Given the description of an element on the screen output the (x, y) to click on. 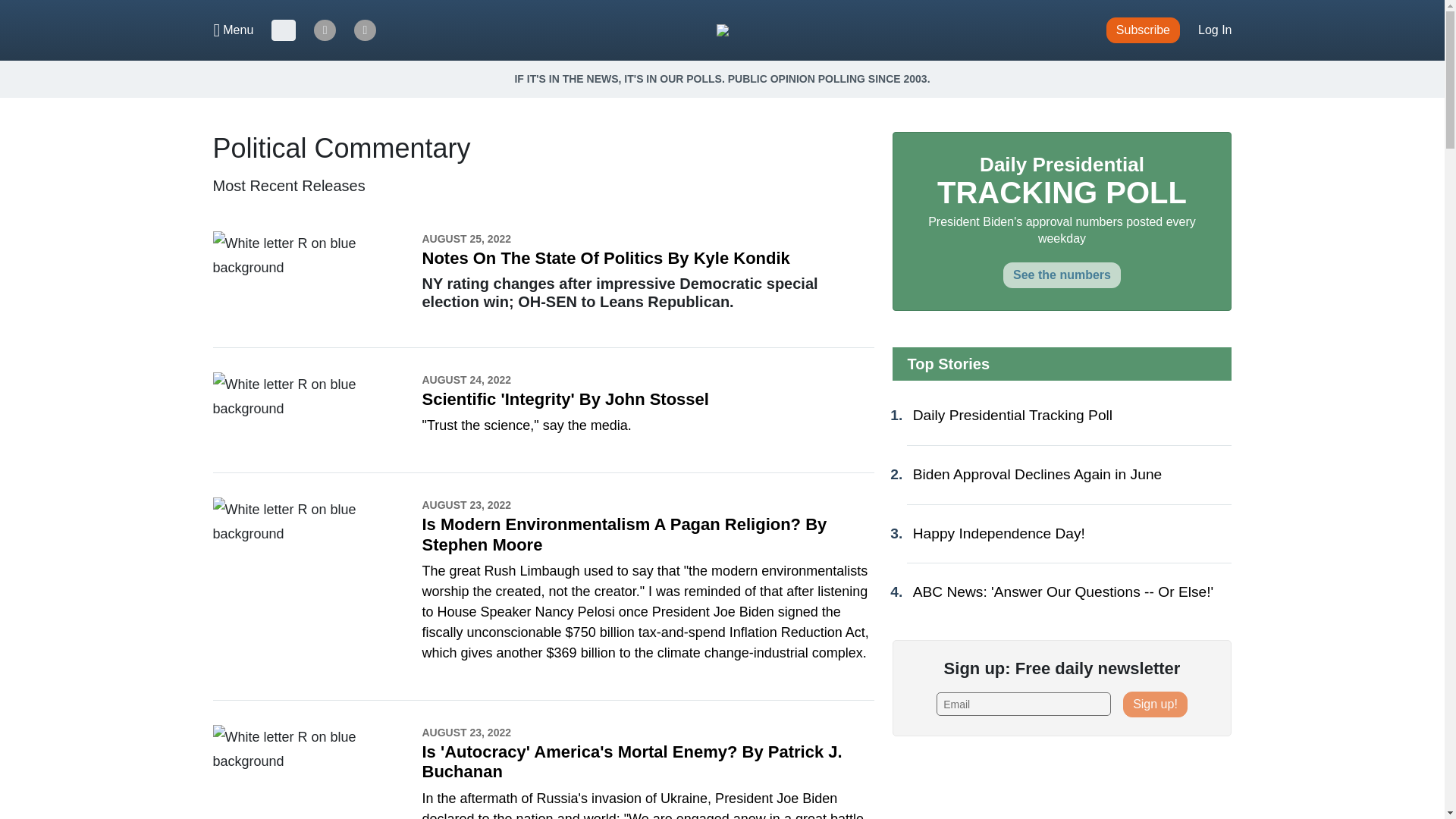
Menu (234, 30)
Notes On The State Of Politics By Kyle Kondik (605, 257)
Subscribe (1142, 30)
Scientific 'Integrity' By John Stossel (564, 398)
Log In (1214, 30)
